Given the description of an element on the screen output the (x, y) to click on. 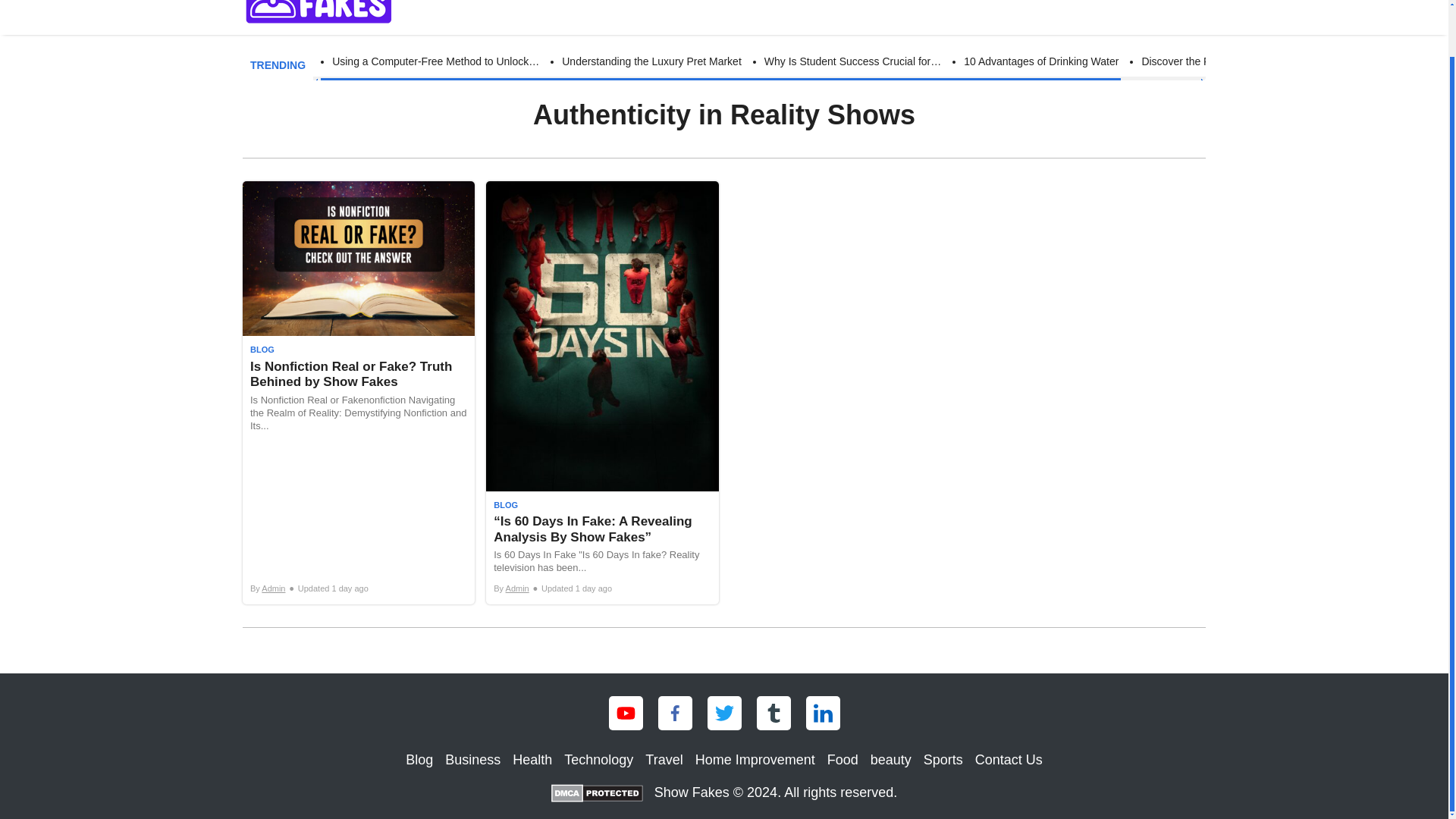
Home Improvement (898, 4)
Sports (942, 759)
Business (604, 4)
Home Improvement (755, 759)
Food (843, 759)
BLOG (505, 505)
BLOG (262, 350)
Technology (598, 759)
Blog (547, 4)
Food (988, 4)
